Given the description of an element on the screen output the (x, y) to click on. 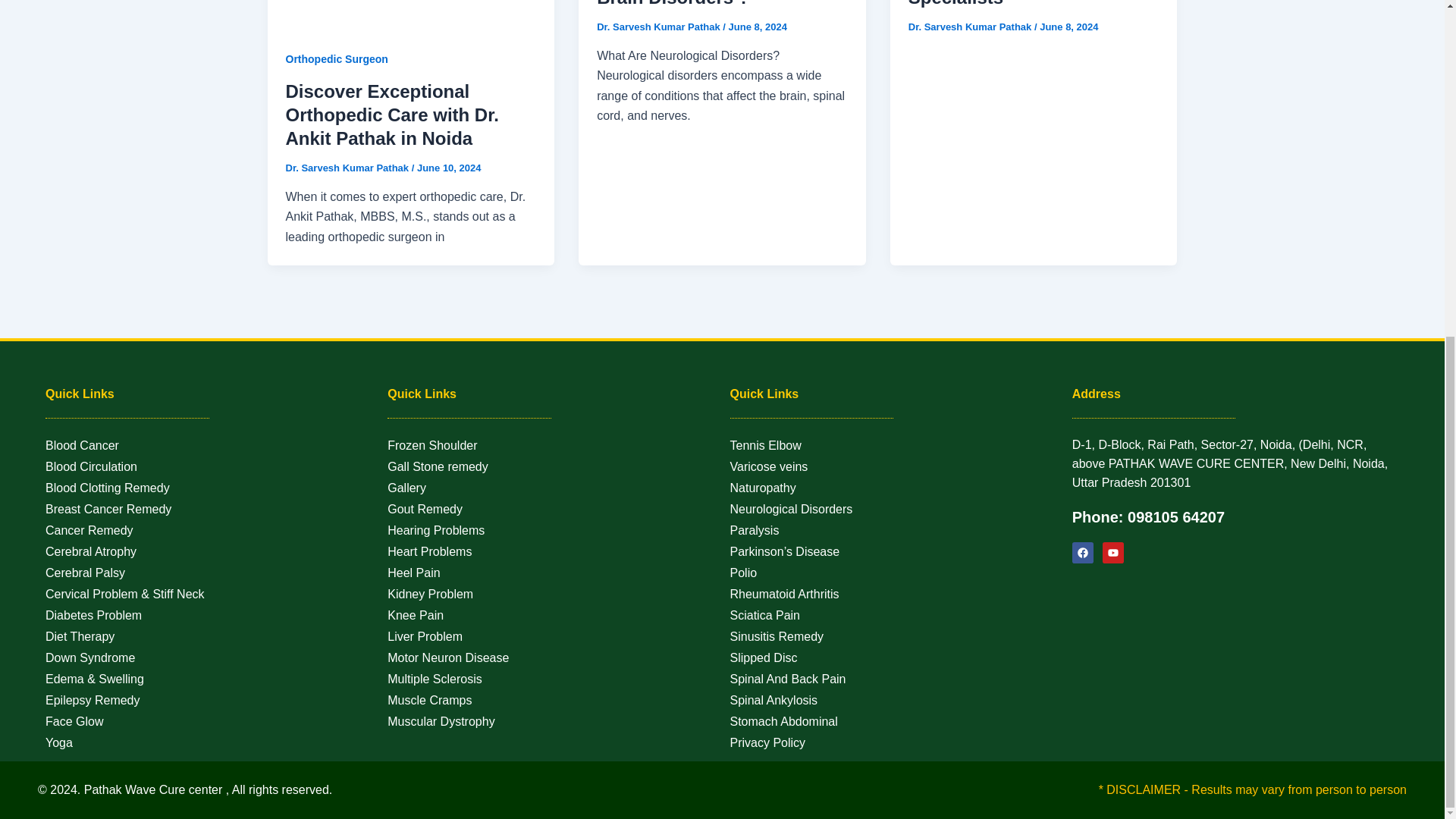
Blood Clotting Remedy (208, 487)
Blood Cancer (208, 445)
Dr. Sarvesh Kumar Pathak (970, 26)
Blood Circulation (208, 466)
Cancer Remedy (208, 530)
Dr. Sarvesh Kumar Pathak (347, 167)
Understanding the Importance of Neurological Specialists (1026, 3)
View all posts by Dr. Sarvesh Kumar Pathak (347, 167)
View all posts by Dr. Sarvesh Kumar Pathak (659, 26)
Dr. Sarvesh Kumar Pathak (659, 26)
View all posts by Dr. Sarvesh Kumar Pathak (970, 26)
Breast Cancer Remedy (208, 509)
Orthopedic Surgeon (336, 59)
